Given the description of an element on the screen output the (x, y) to click on. 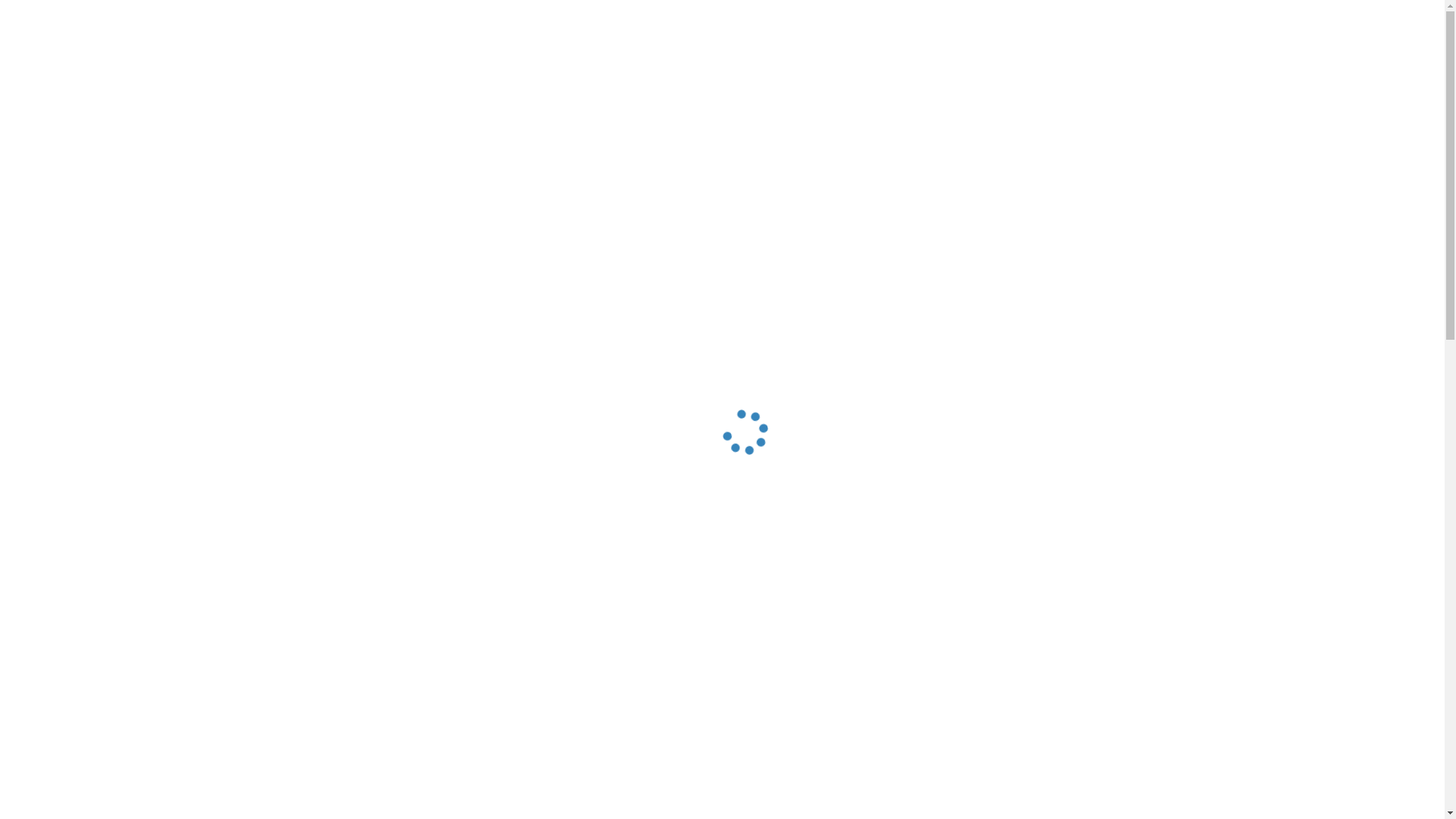
Ryot Smell Safe Hard Shell Krypto Kit - 120MM x 69MM Element type: hover (1043, 671)
Search Element type: text (1040, 78)
Ryot Smell Safe Krypto Kit - 120MM x 69MM Element type: text (811, 713)
Pond Supplies Element type: text (865, 130)
Add to Cart Element type: text (615, 800)
Ryot Smell Safe Hard Shell Krypto Kit - 120MM x 69MM Element type: text (1041, 713)
Online Purchase Available Element type: hover (679, 772)
Ryot Utility Tool V2 - Stainless Steel Construction Element type: hover (615, 671)
My account Element type: text (1214, 78)
0
Cart Element type: text (1291, 78)
Pickup Available Element type: hover (486, 788)
Hydroponics Element type: text (435, 130)
Brands Element type: text (960, 130)
In Stock Element type: hover (660, 772)
Filter By Specifics Element type: text (725, 585)
Filter By Category Element type: text (364, 585)
Online Purchase Available Element type: hover (466, 788)
Filter By Brand Element type: text (489, 585)
Available Options Element type: text (1043, 800)
Pickup Available Element type: hover (700, 772)
(02) 8041 7959 Element type: text (450, 81)
Filter By Price Element type: text (604, 585)
Ryot Smell Safe Krypto Kit - 120MM x 69MM Element type: hover (829, 671)
Stock Information Available in Product Page Element type: hover (1129, 772)
In Stock Element type: hover (446, 788)
Stock Information Available in Product Page Element type: hover (914, 772)
Available Options Element type: text (829, 800)
Contact Us Element type: text (1274, 29)
Organic Soil Gardening Element type: text (574, 130)
Ryot Element type: text (331, 178)
Track Order Element type: text (1194, 29)
Gardening Supplies Element type: text (732, 130)
Sale Element type: text (1033, 130)
Ryot Utility Tool V2 - Stainless Steel Construction Element type: text (601, 713)
